Given the description of an element on the screen output the (x, y) to click on. 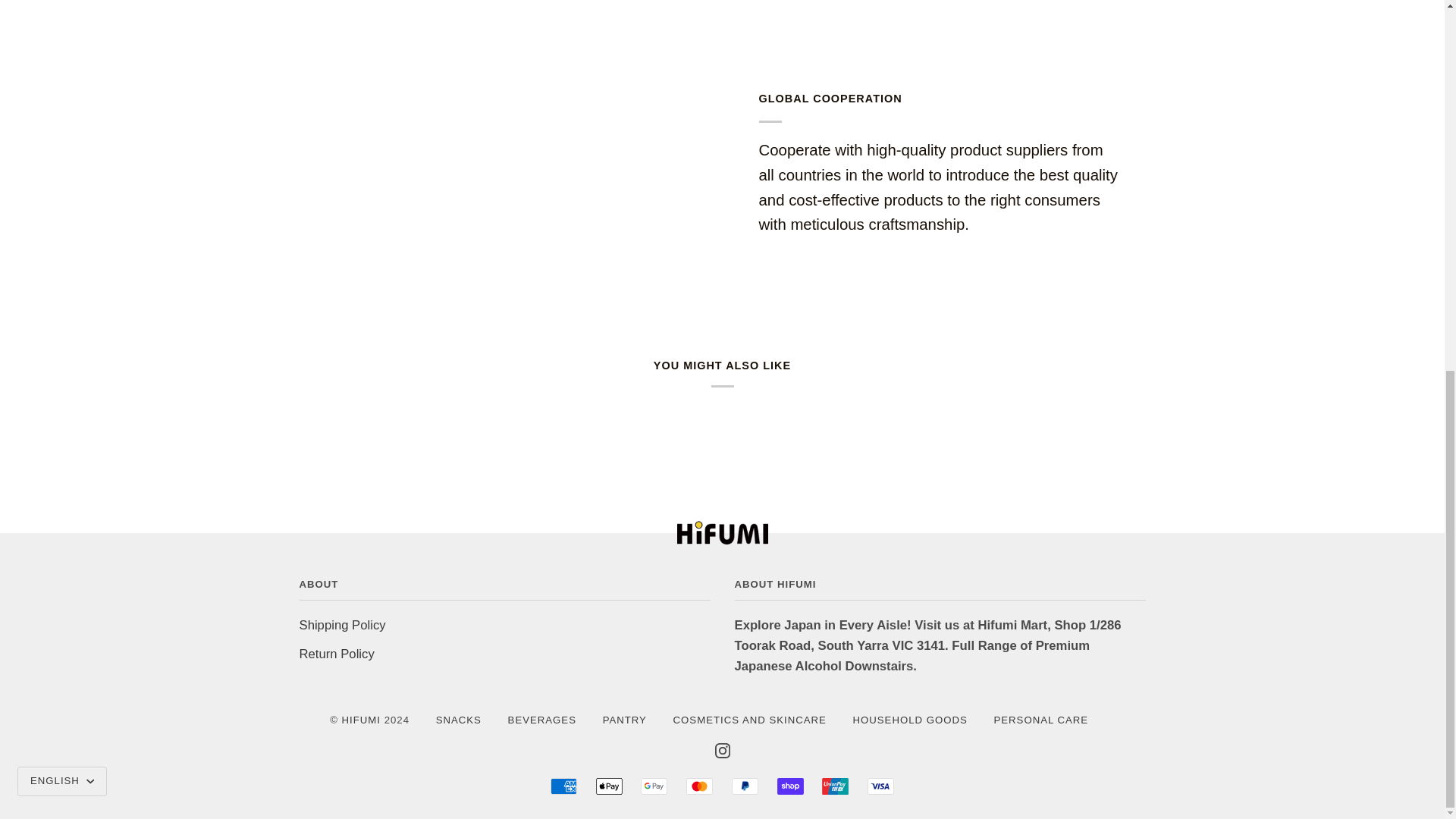
SHOP PAY (789, 786)
PAYPAL (745, 786)
MASTERCARD (699, 786)
APPLE PAY (609, 786)
VISA (880, 786)
GOOGLE PAY (653, 786)
UNION PAY (835, 786)
Instagram (721, 750)
AMERICAN EXPRESS (563, 786)
